Given the description of an element on the screen output the (x, y) to click on. 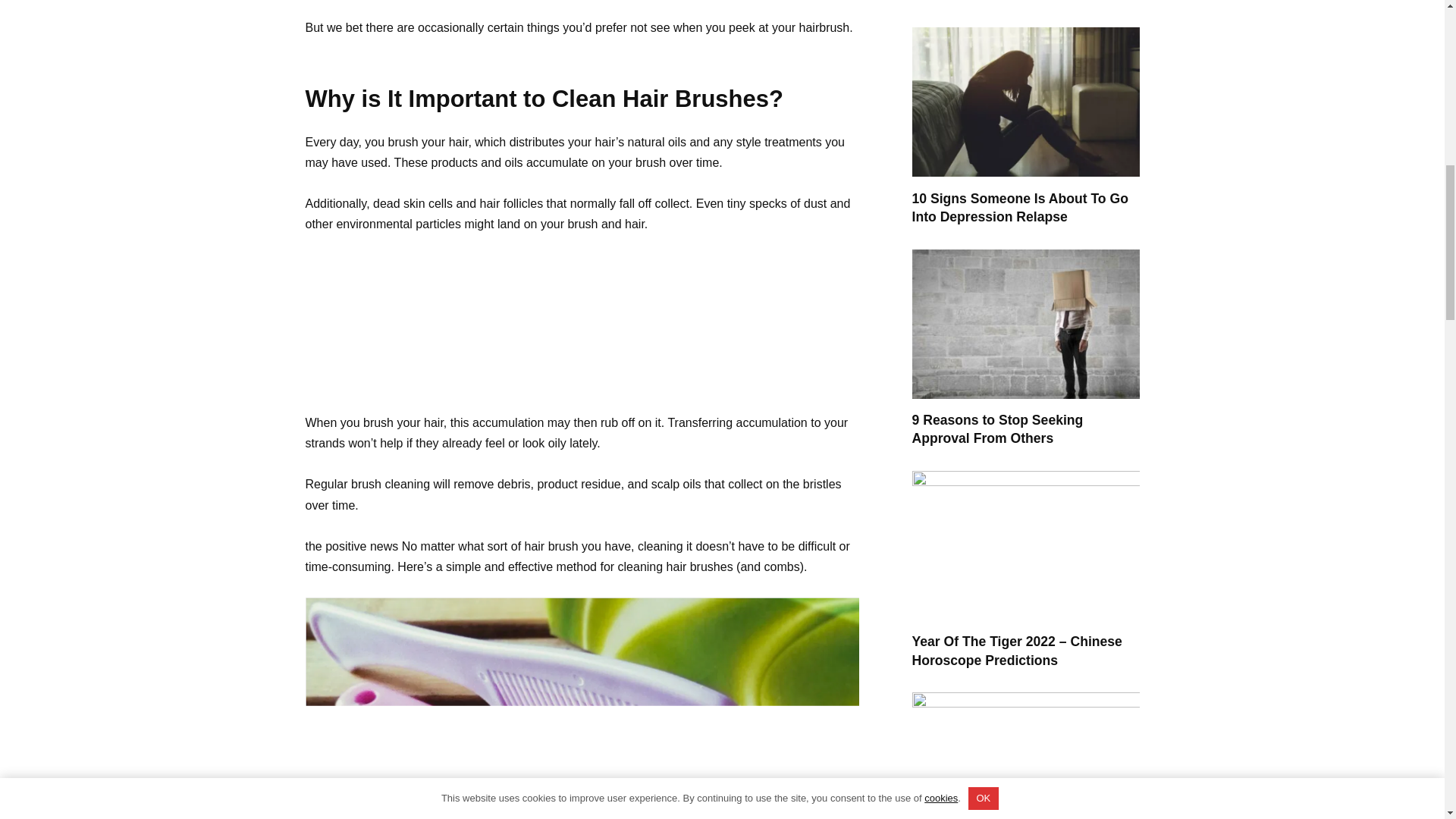
15 Sweet Ways to Tell a Guy You Like Him and Win Him Over (1013, 2)
9 Reasons to Stop Seeking Approval From Others (997, 429)
10 Signs Someone Is About To Go Into Depression Relapse (1018, 207)
